Given the description of an element on the screen output the (x, y) to click on. 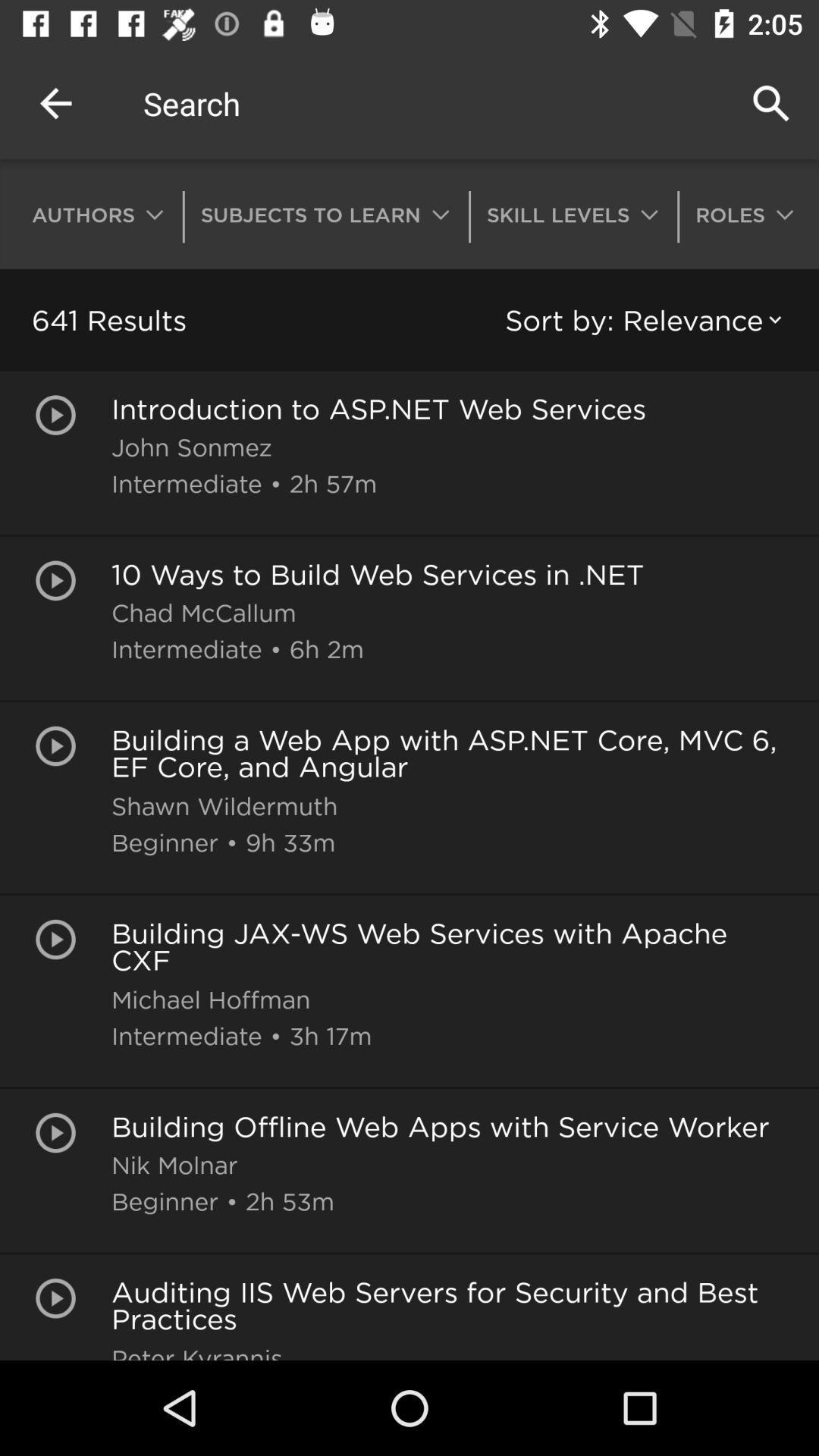
open the item above authors item (55, 103)
